Given the description of an element on the screen output the (x, y) to click on. 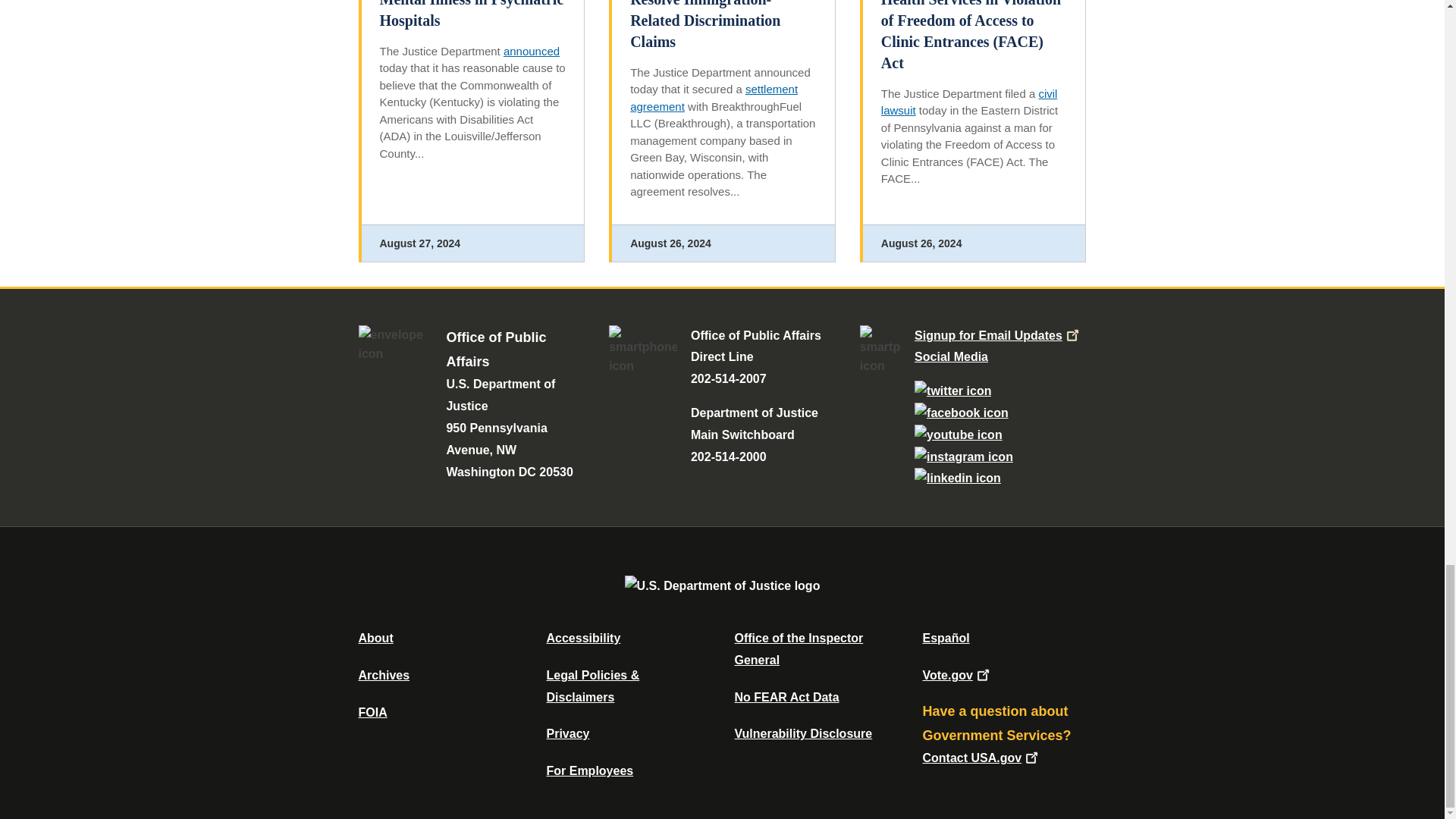
Office of Information Policy (372, 712)
Accessibility Statement (583, 637)
About DOJ (375, 637)
Legal Policies and Disclaimers (592, 686)
For Employees (589, 770)
Department of Justice Archive (383, 675)
Data Posted Pursuant To The No Fear Act (785, 697)
